Given the description of an element on the screen output the (x, y) to click on. 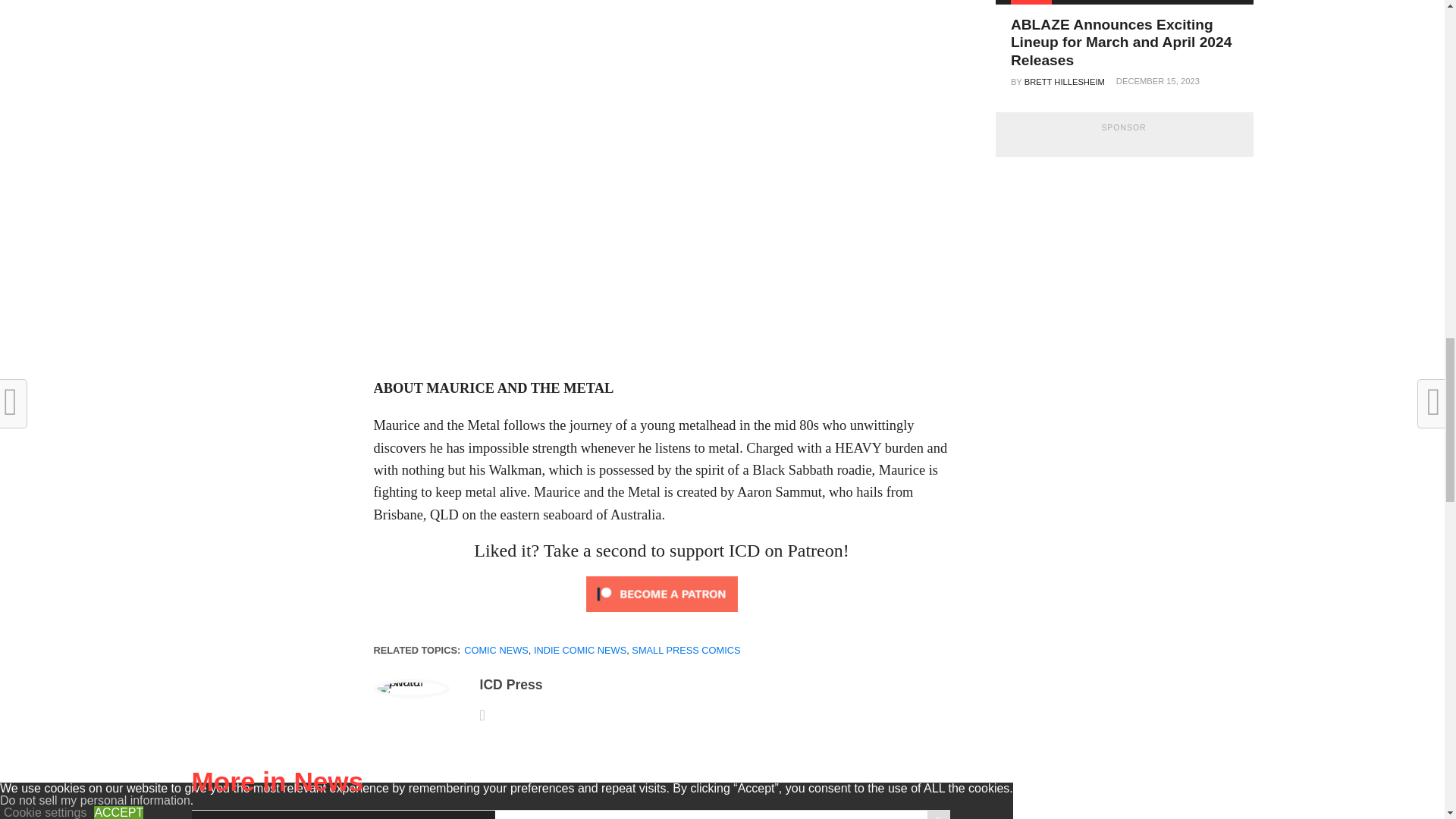
SMALL PRESS COMICS (685, 650)
ICD Press (510, 684)
COMIC NEWS (496, 650)
Posts by ICD Press (510, 684)
INDIE COMIC NEWS (580, 650)
